Given the description of an element on the screen output the (x, y) to click on. 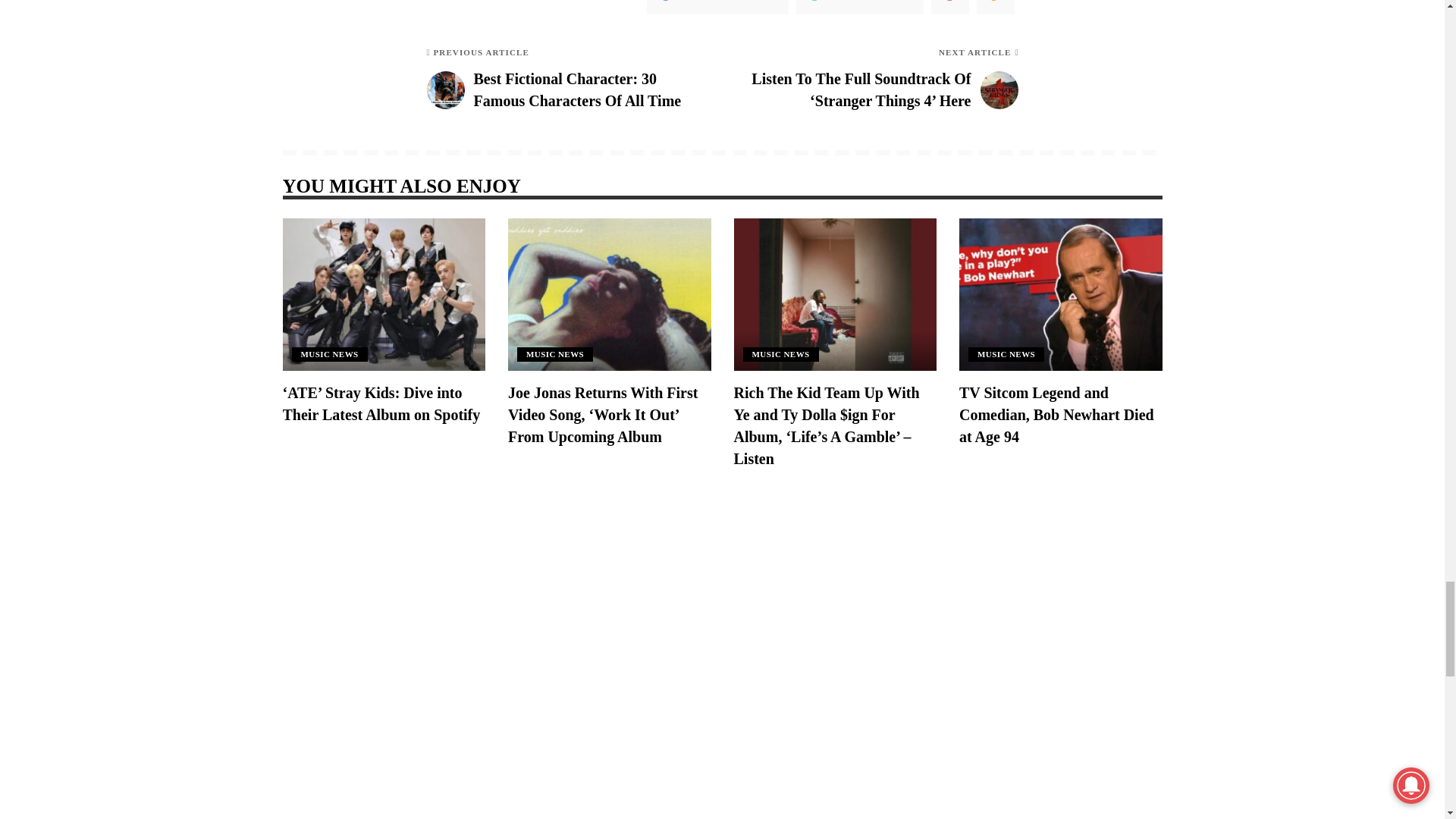
MUSIC NEWS (780, 354)
Twitter (859, 7)
MUSIC NEWS (328, 354)
MUSIC NEWS (554, 354)
MUSIC NEWS (1005, 354)
Email (995, 7)
Facebook (717, 7)
Share on Facebook (717, 7)
Pinterest (950, 7)
TV Sitcom Legend and Comedian, Bob Newhart Died at Age 94 (1056, 414)
Share on Twitter (859, 7)
